Given the description of an element on the screen output the (x, y) to click on. 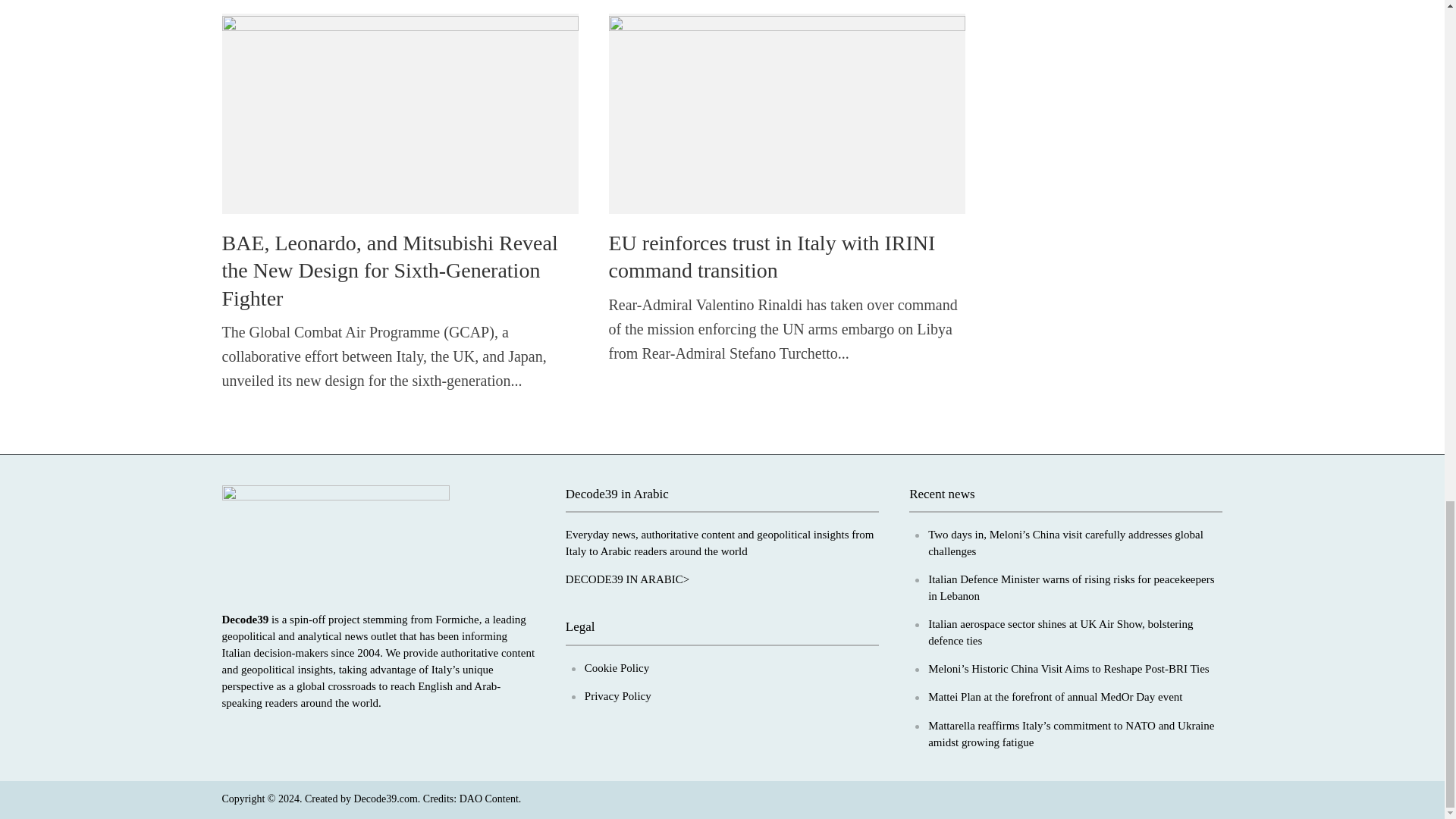
EU reinforces trust in Italy with IRINI command transition (785, 112)
